Given the description of an element on the screen output the (x, y) to click on. 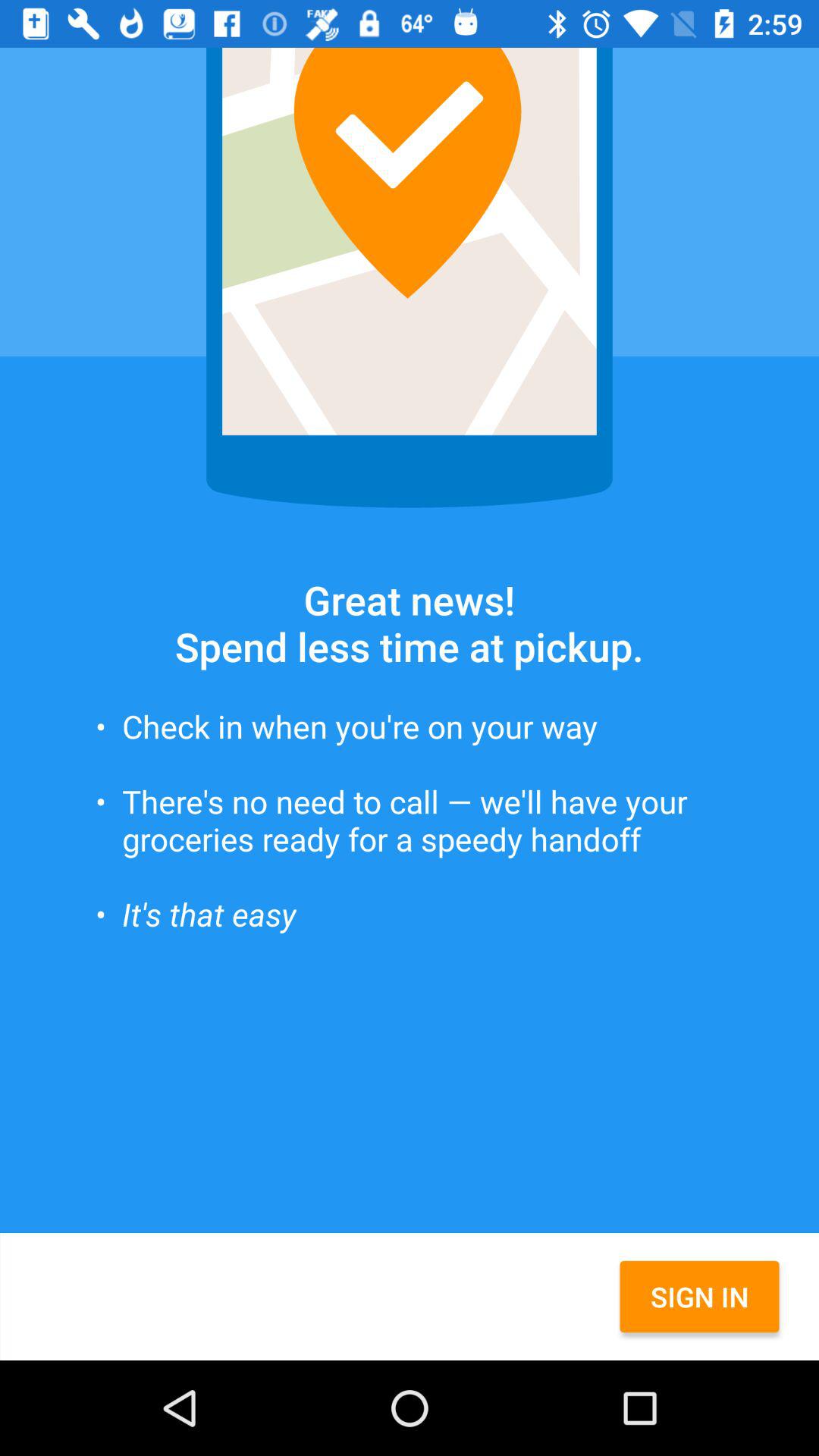
open sign in icon (699, 1296)
